Given the description of an element on the screen output the (x, y) to click on. 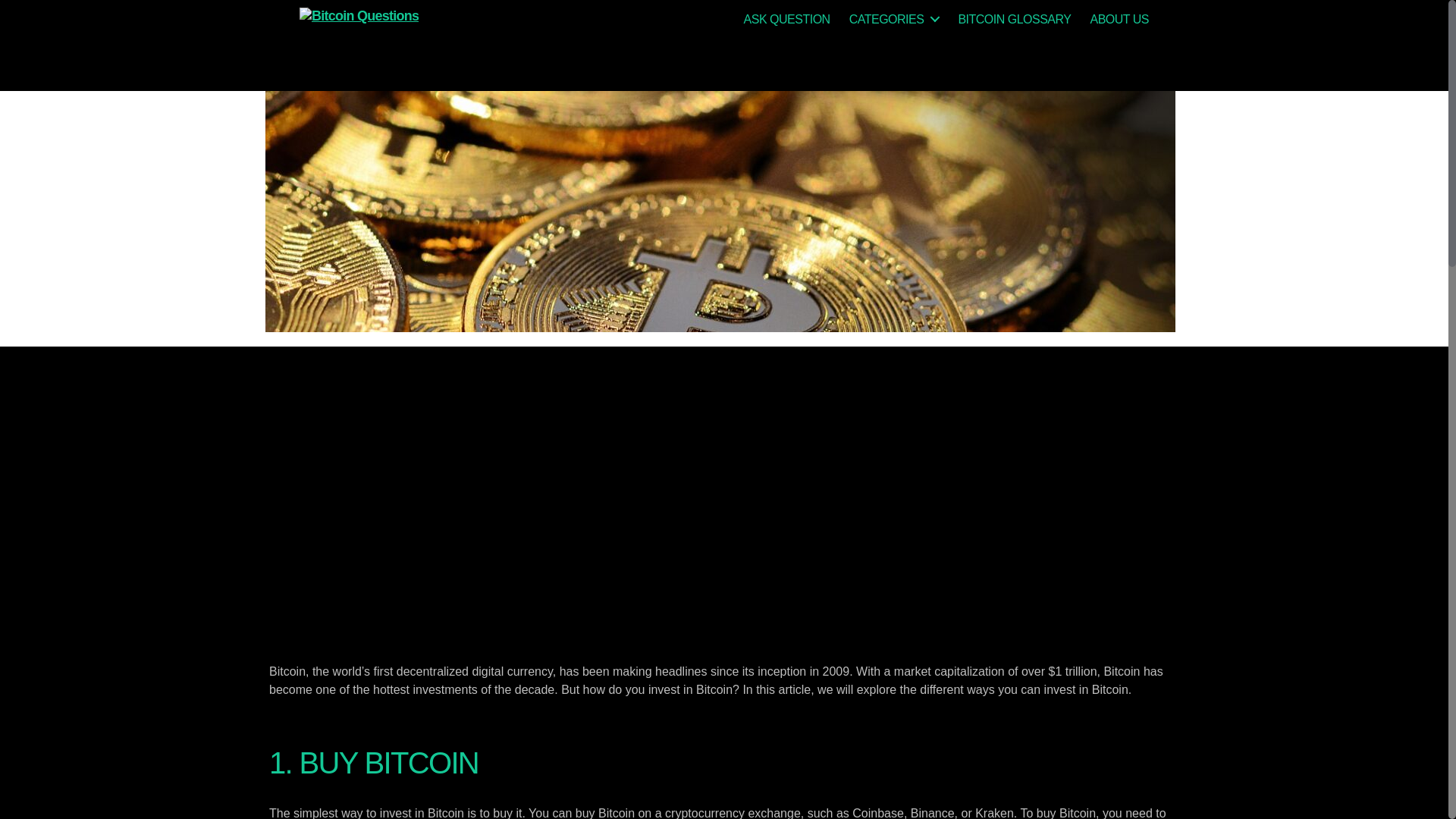
ABOUT US (1118, 19)
BITCOIN GLOSSARY (1014, 19)
CATEGORIES (893, 19)
ASK QUESTION (786, 19)
